Given the description of an element on the screen output the (x, y) to click on. 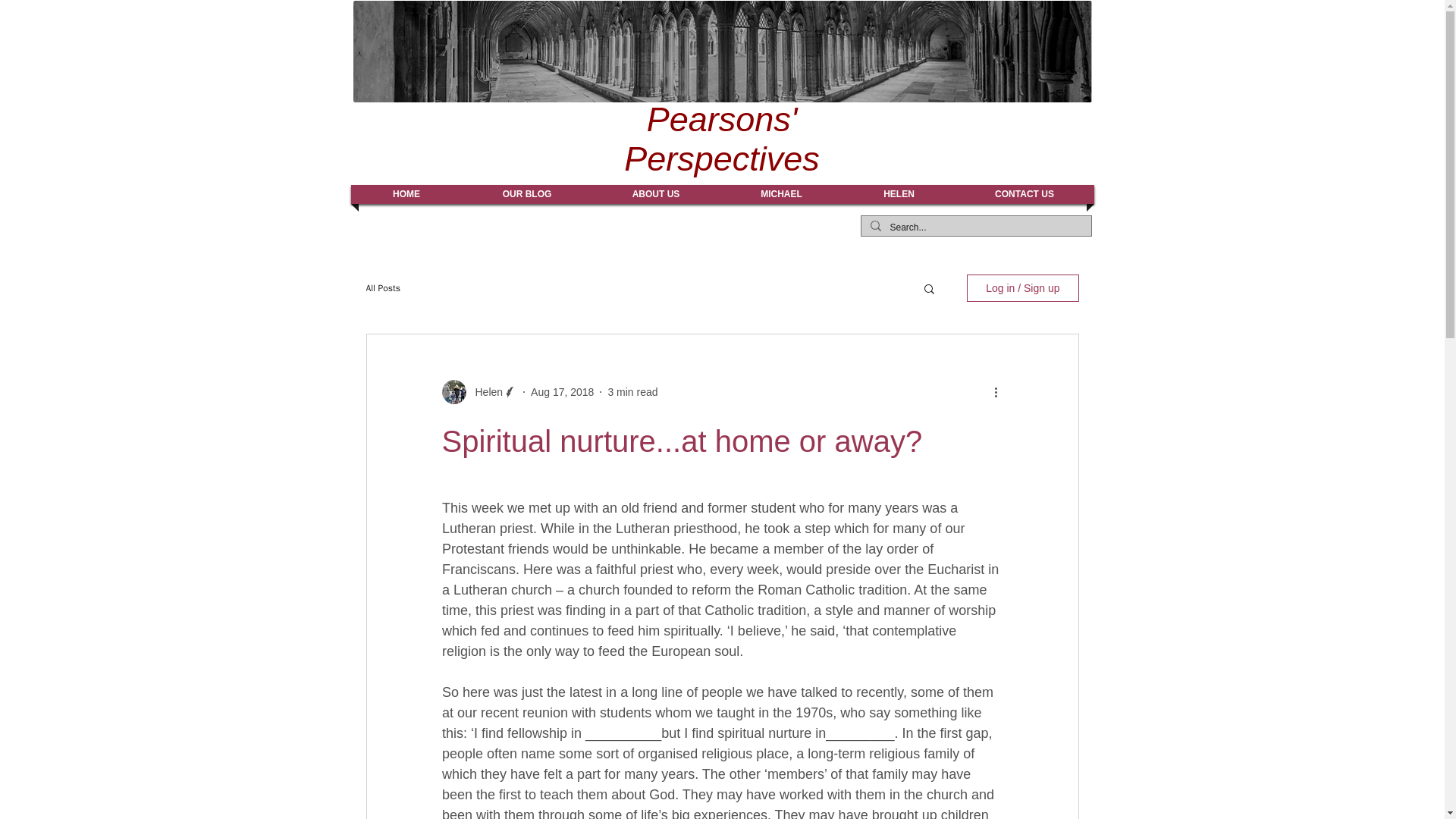
CONTACT US (1023, 194)
Helen (483, 391)
OUR BLOG (526, 194)
3 min read (632, 390)
ABOUT US (655, 194)
HOME (406, 194)
Aug 17, 2018 (562, 390)
All Posts (382, 287)
